Given the description of an element on the screen output the (x, y) to click on. 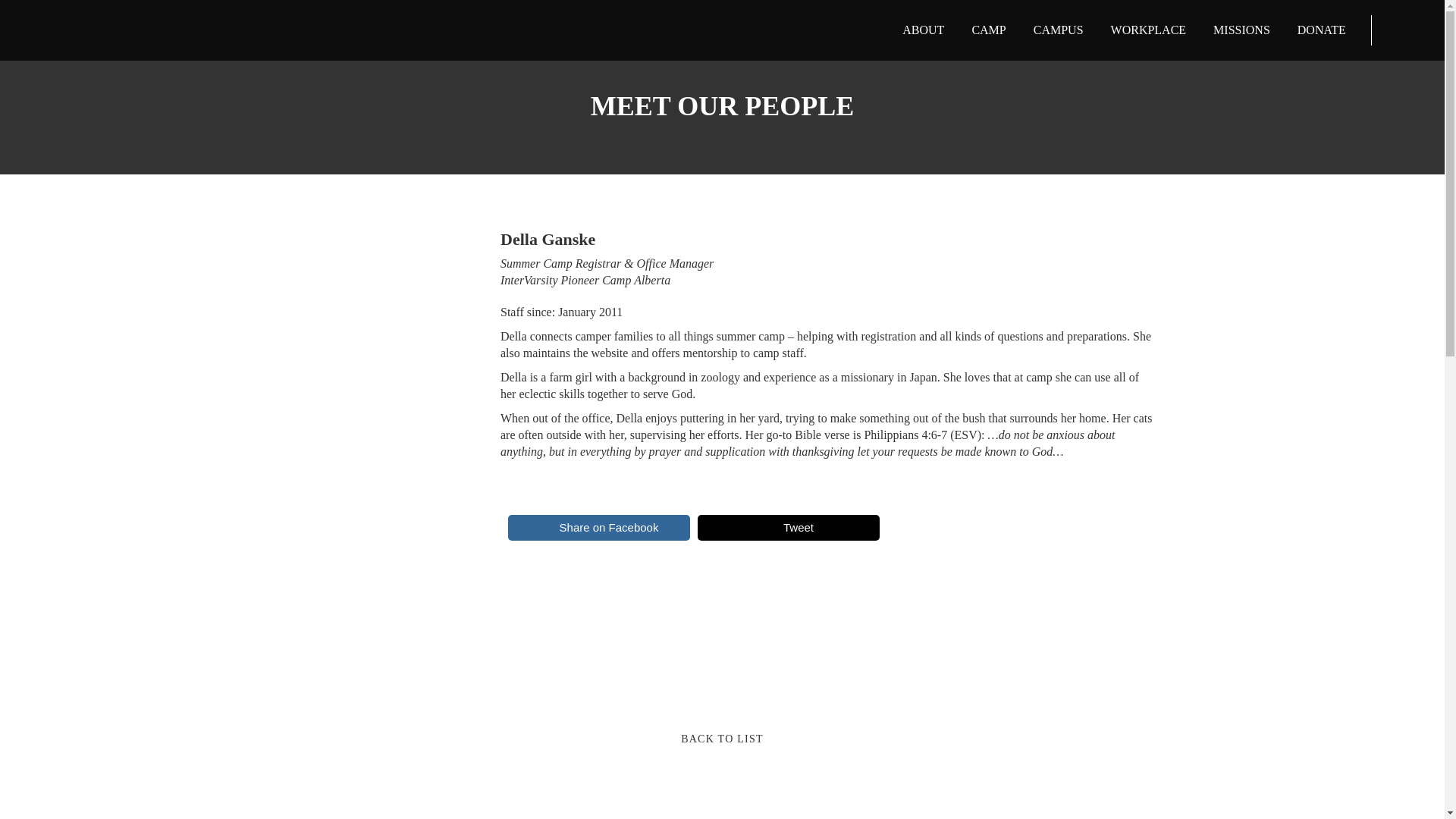
Contact by Email (544, 585)
ABOUT (923, 29)
Contact by Email (566, 636)
